Given the description of an element on the screen output the (x, y) to click on. 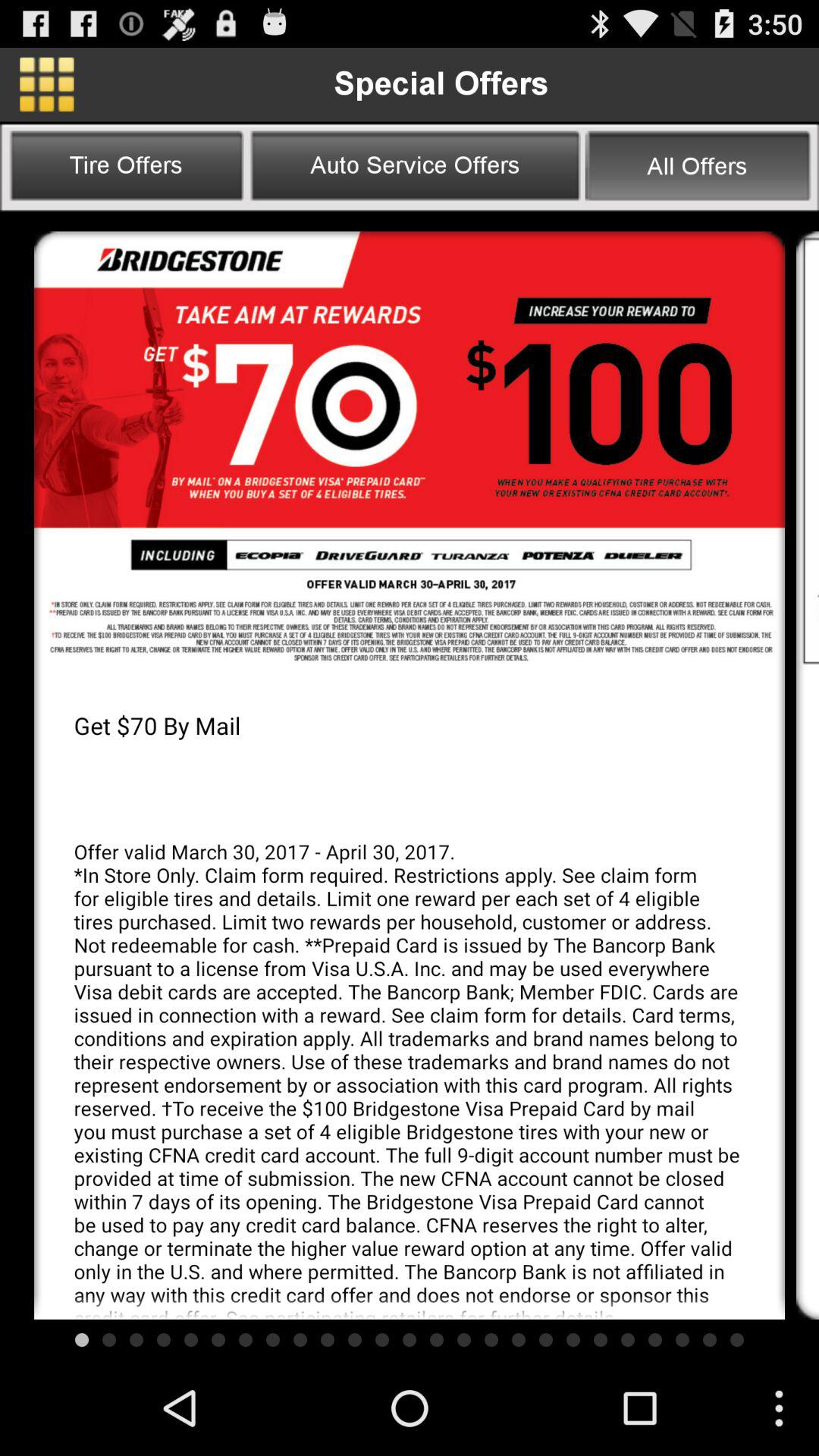
open settings (46, 84)
